Given the description of an element on the screen output the (x, y) to click on. 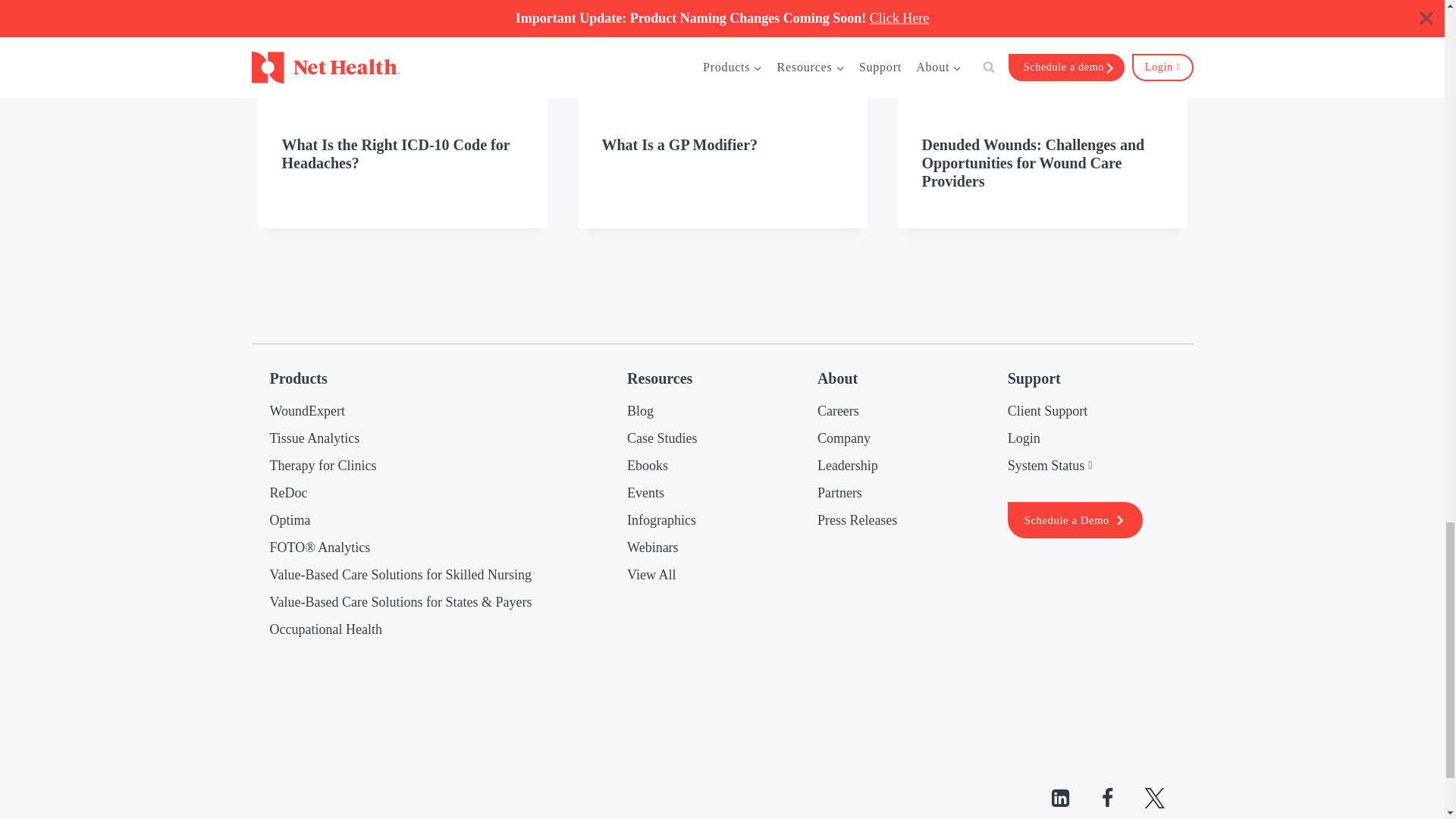
Net Health logo (1144, 699)
